Given the description of an element on the screen output the (x, y) to click on. 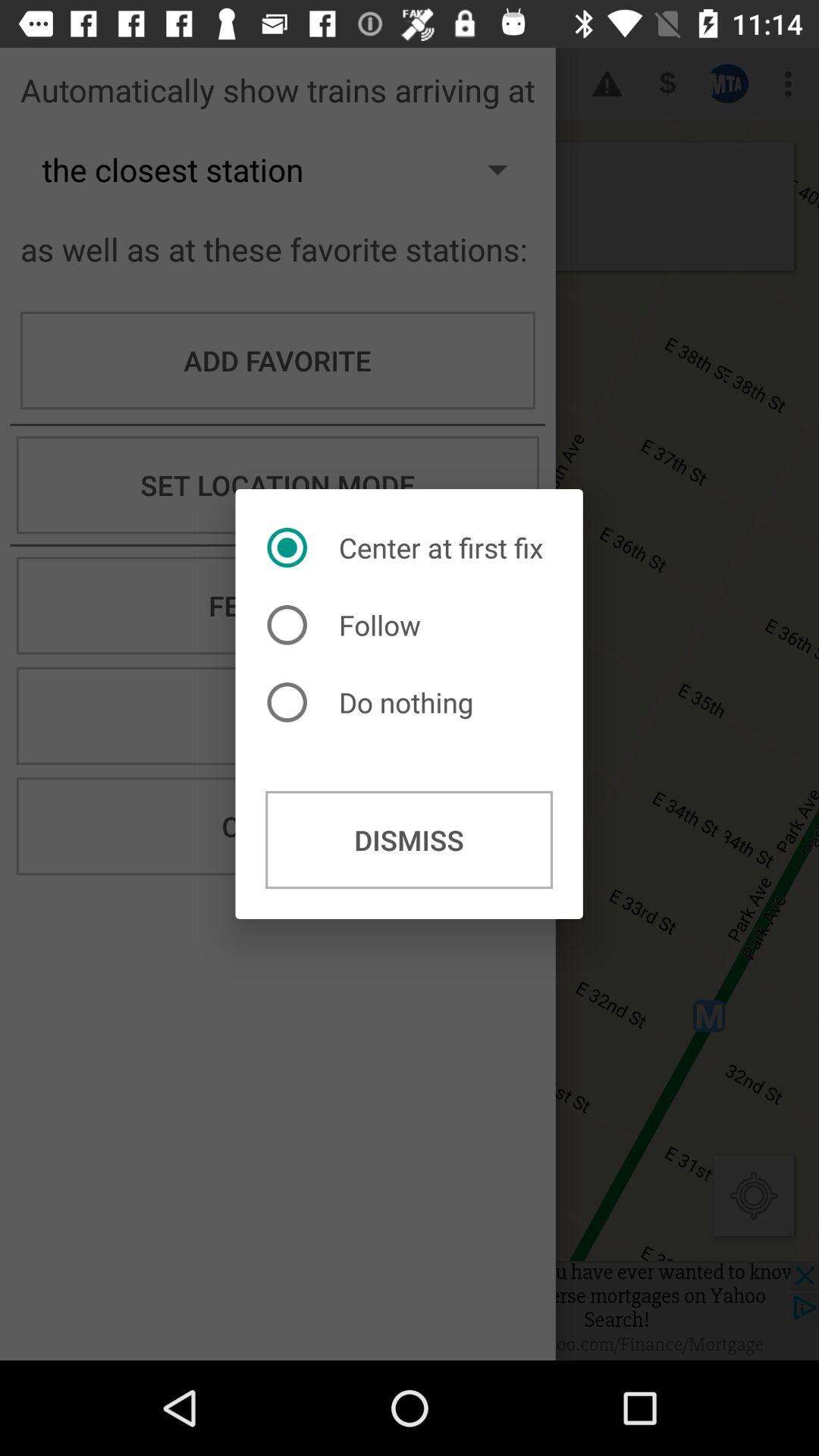
select item below the do nothing item (408, 839)
